Given the description of an element on the screen output the (x, y) to click on. 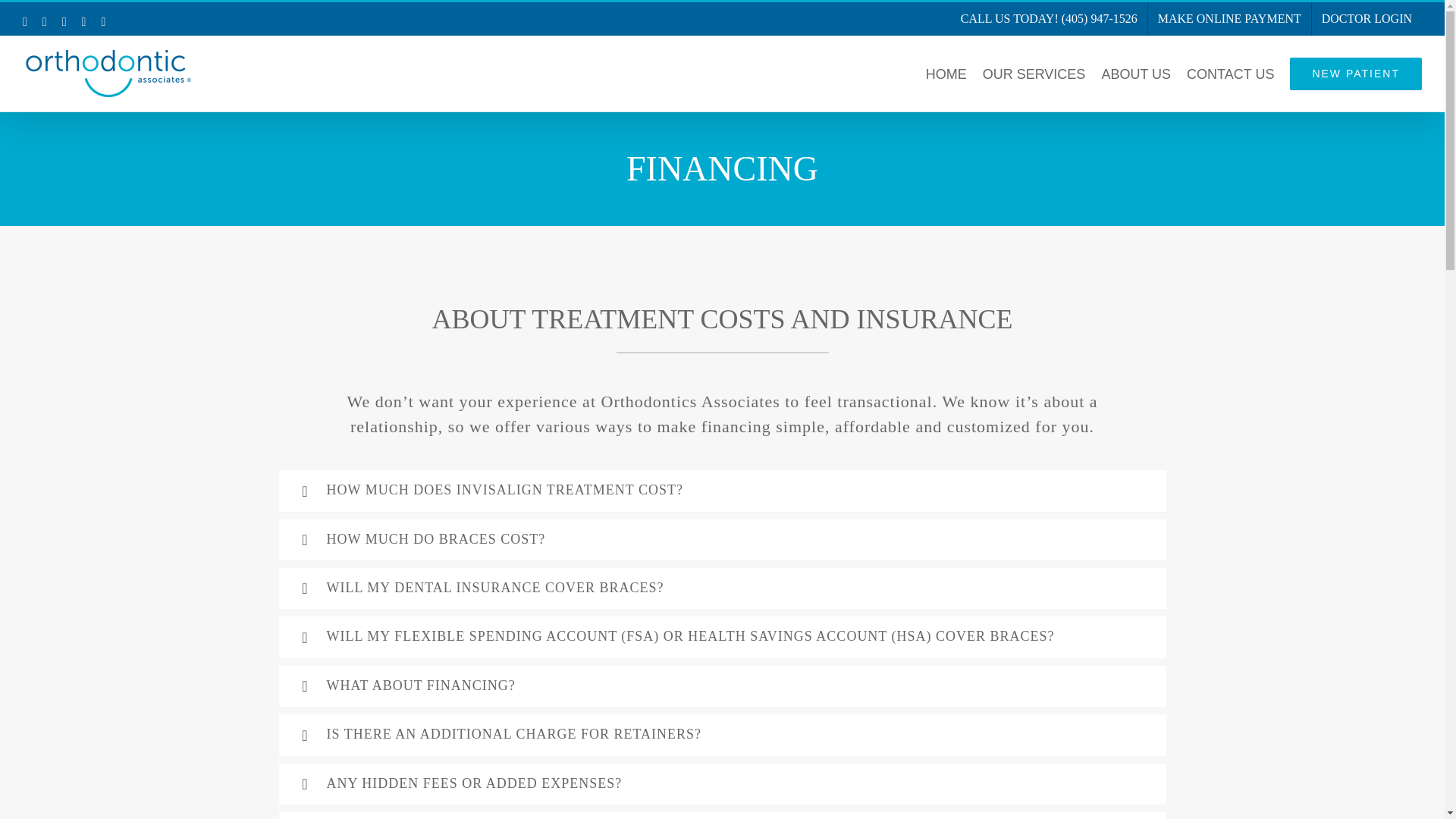
OUR SERVICES (1034, 73)
ABOUT US (1135, 73)
MAKE ONLINE PAYMENT (1229, 19)
DOCTOR LOGIN (1366, 19)
